Given the description of an element on the screen output the (x, y) to click on. 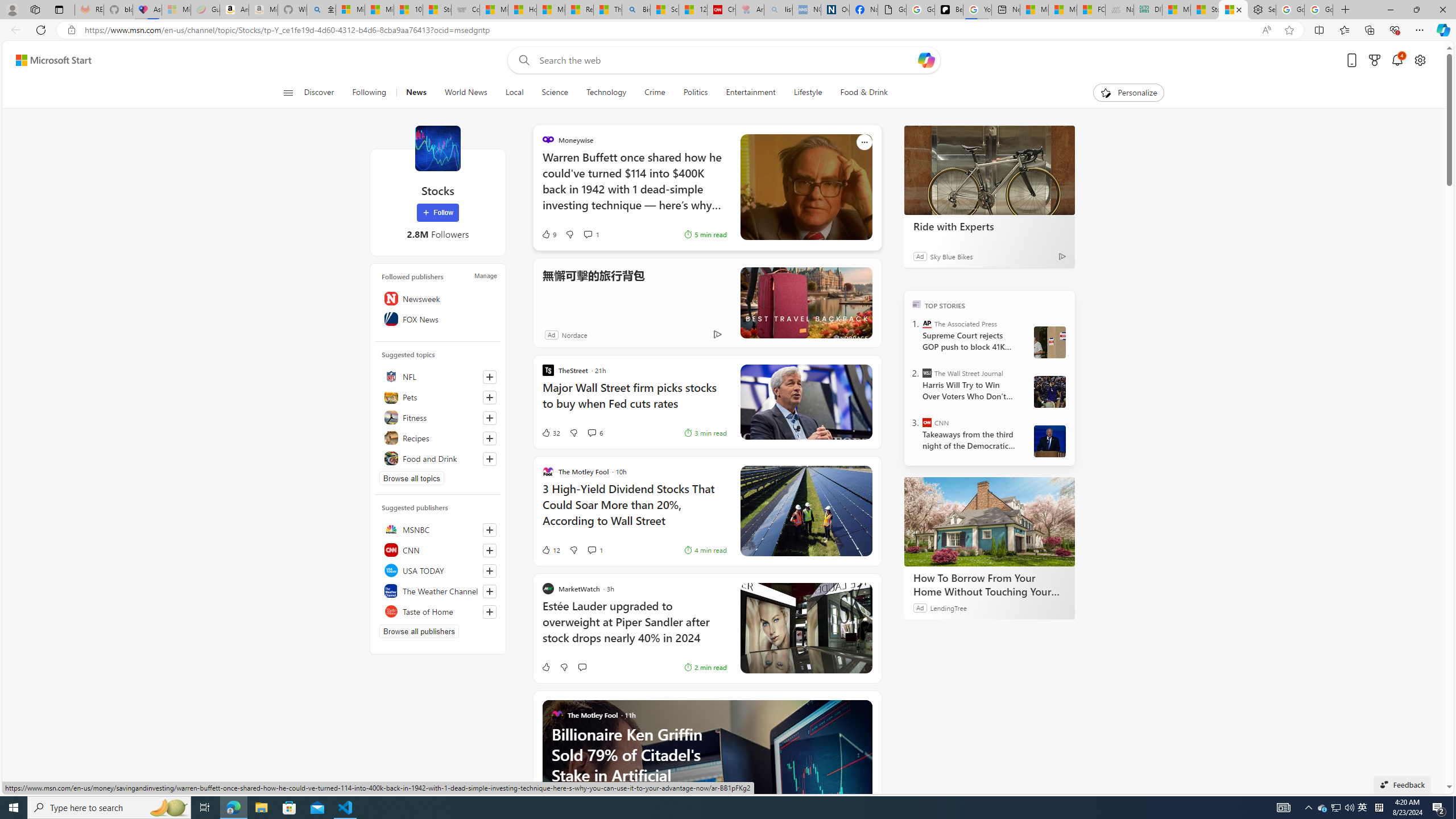
DITOGAMES AG Imprint (1147, 9)
The Wall Street Journal (927, 372)
How To Borrow From Your Home Without Touching Your Mortgage (988, 584)
USA TODAY (437, 570)
Enter your search term (726, 59)
The Weather Channel (437, 590)
Notifications (1397, 60)
Personalize (1128, 92)
Taste of Home (437, 610)
Sky Blue Bikes (951, 256)
Ad (551, 334)
